Given the description of an element on the screen output the (x, y) to click on. 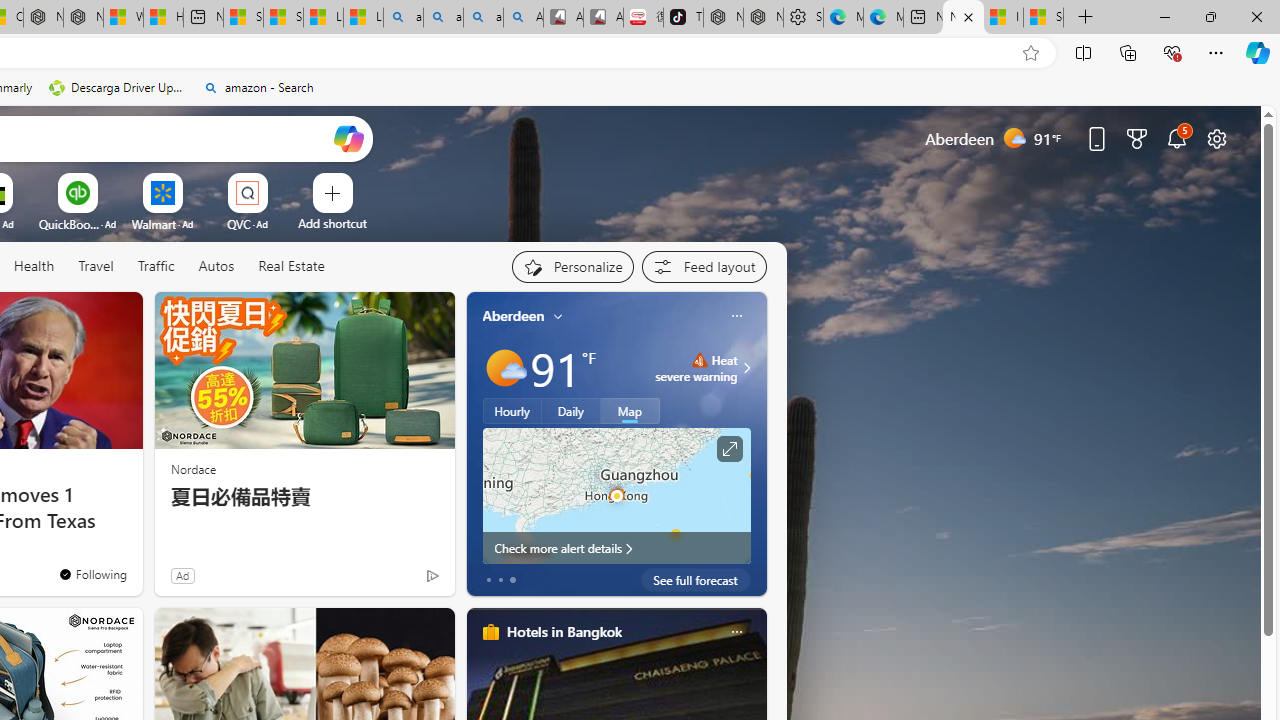
See full forecast (695, 579)
You're following FOX News (390, 579)
Class: weather-arrow-glyph (746, 367)
Descarga Driver Updater (118, 88)
My location (558, 315)
Autos (216, 267)
